Given the description of an element on the screen output the (x, y) to click on. 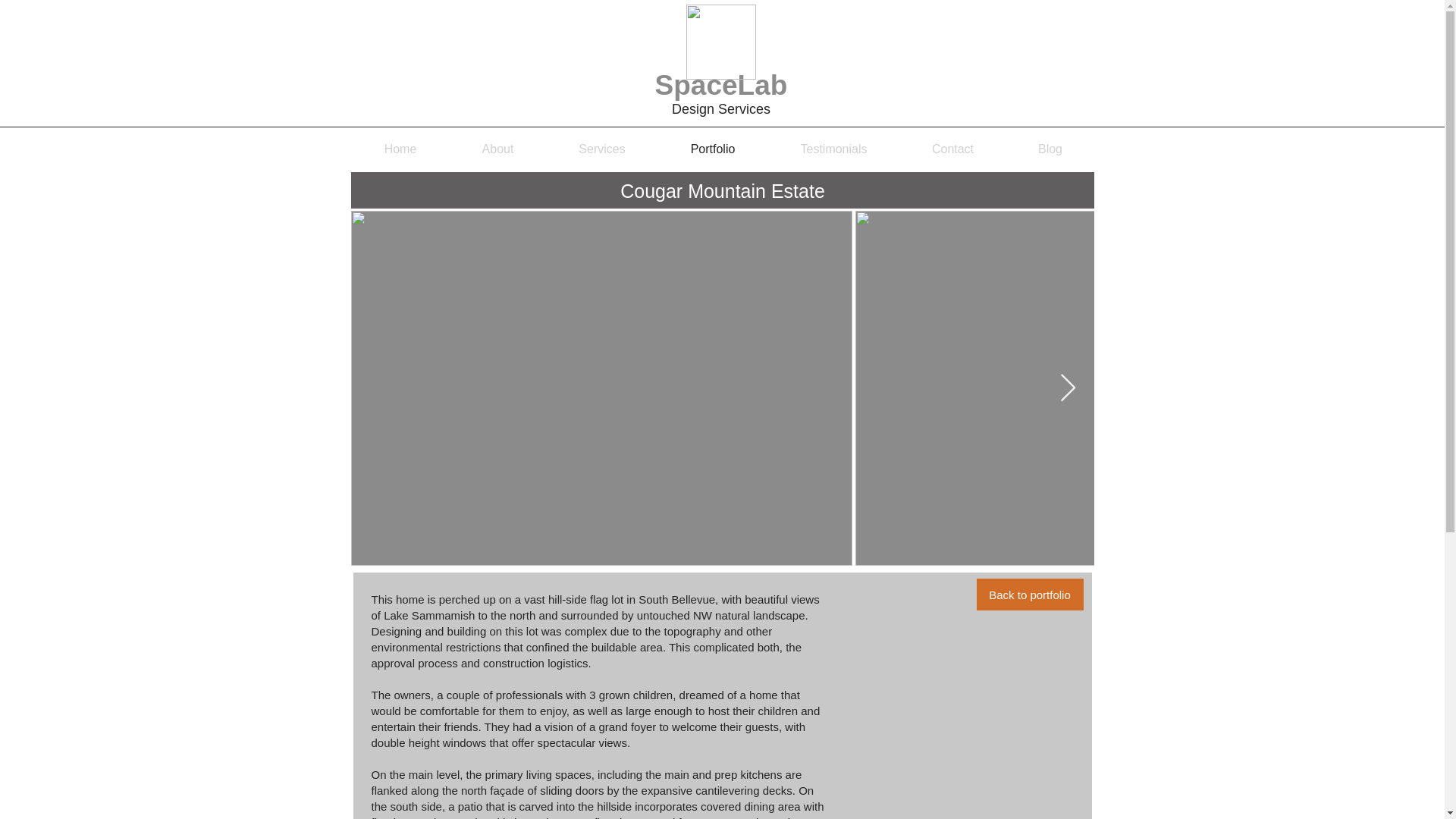
Portfolio (713, 149)
Services (602, 149)
Testimonials (833, 149)
Contact (952, 149)
About (497, 149)
Blog (1050, 149)
Back to portfolio (1029, 594)
Home (400, 149)
